Given the description of an element on the screen output the (x, y) to click on. 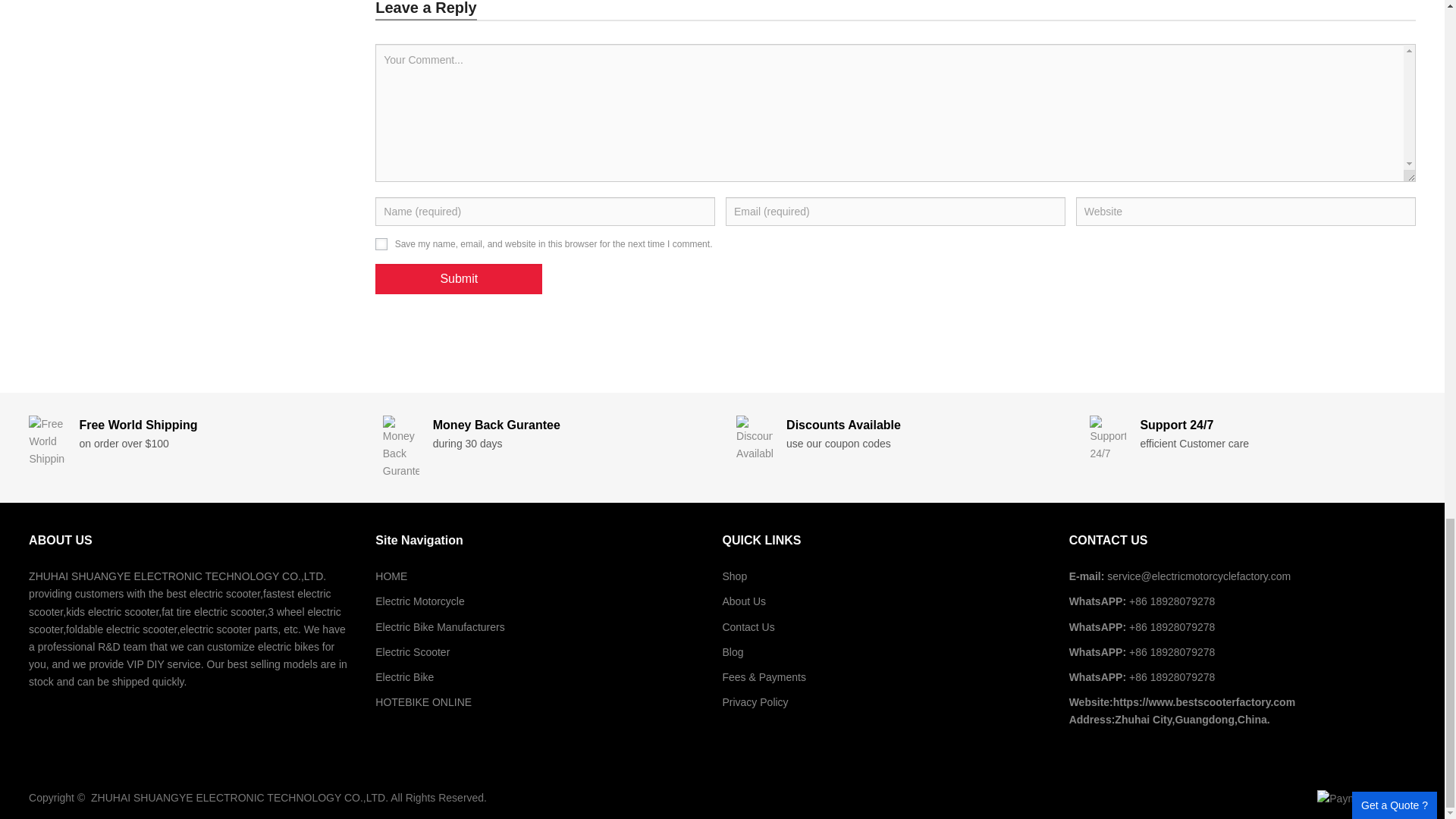
yes (381, 244)
Submit (458, 278)
